Given the description of an element on the screen output the (x, y) to click on. 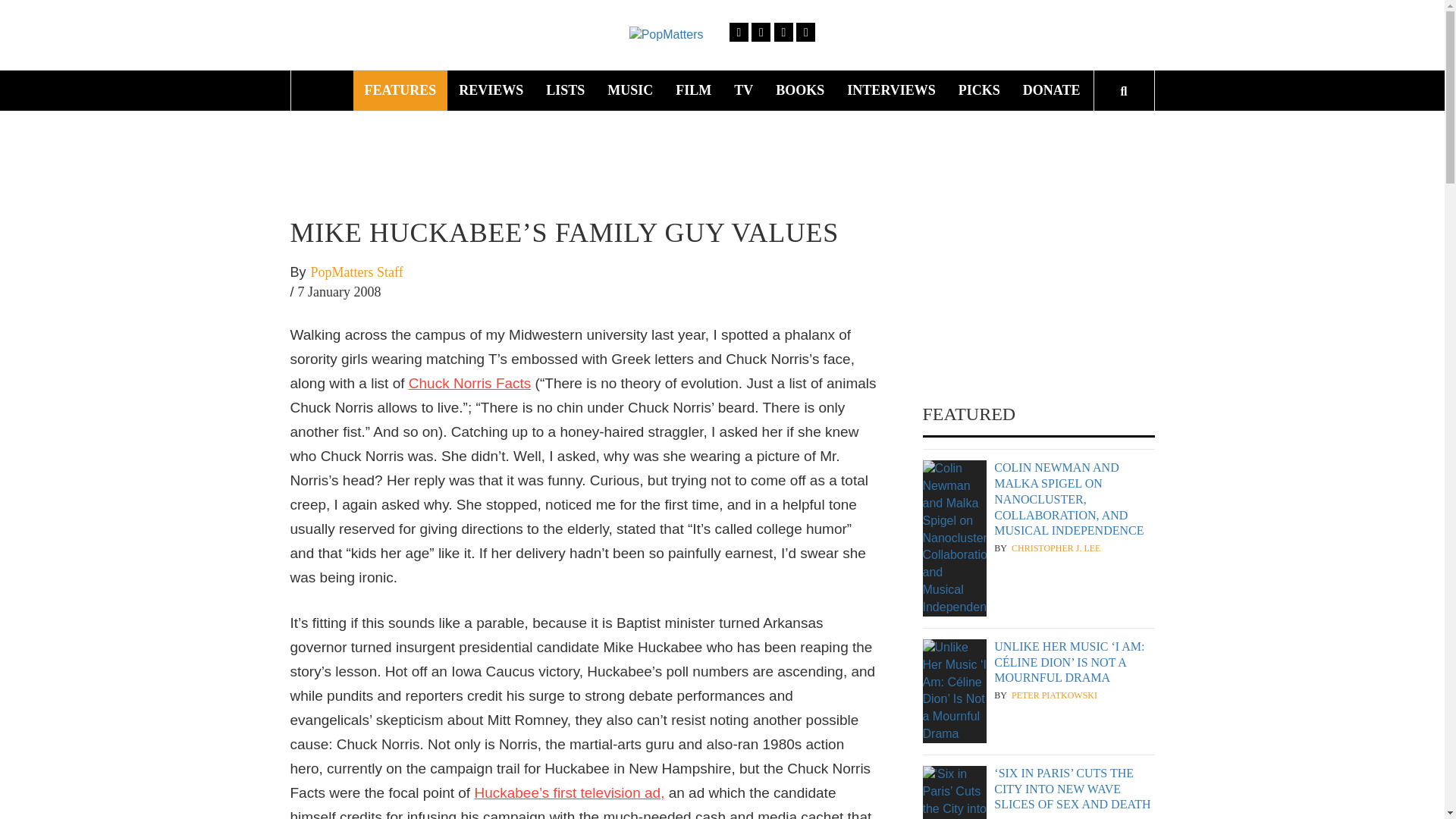
BOOKS (799, 90)
LISTS (564, 90)
POPMATTERS (826, 45)
FEATURES (400, 90)
PopMatters Staff (357, 272)
Spotify (805, 31)
FILM (692, 90)
Chuck Norris Facts (470, 383)
INTERVIEWS (890, 90)
TV (743, 90)
DONATE (1051, 90)
PICKS (979, 90)
REVIEWS (490, 90)
PopMatters Staff (357, 272)
Twitter (760, 31)
